Given the description of an element on the screen output the (x, y) to click on. 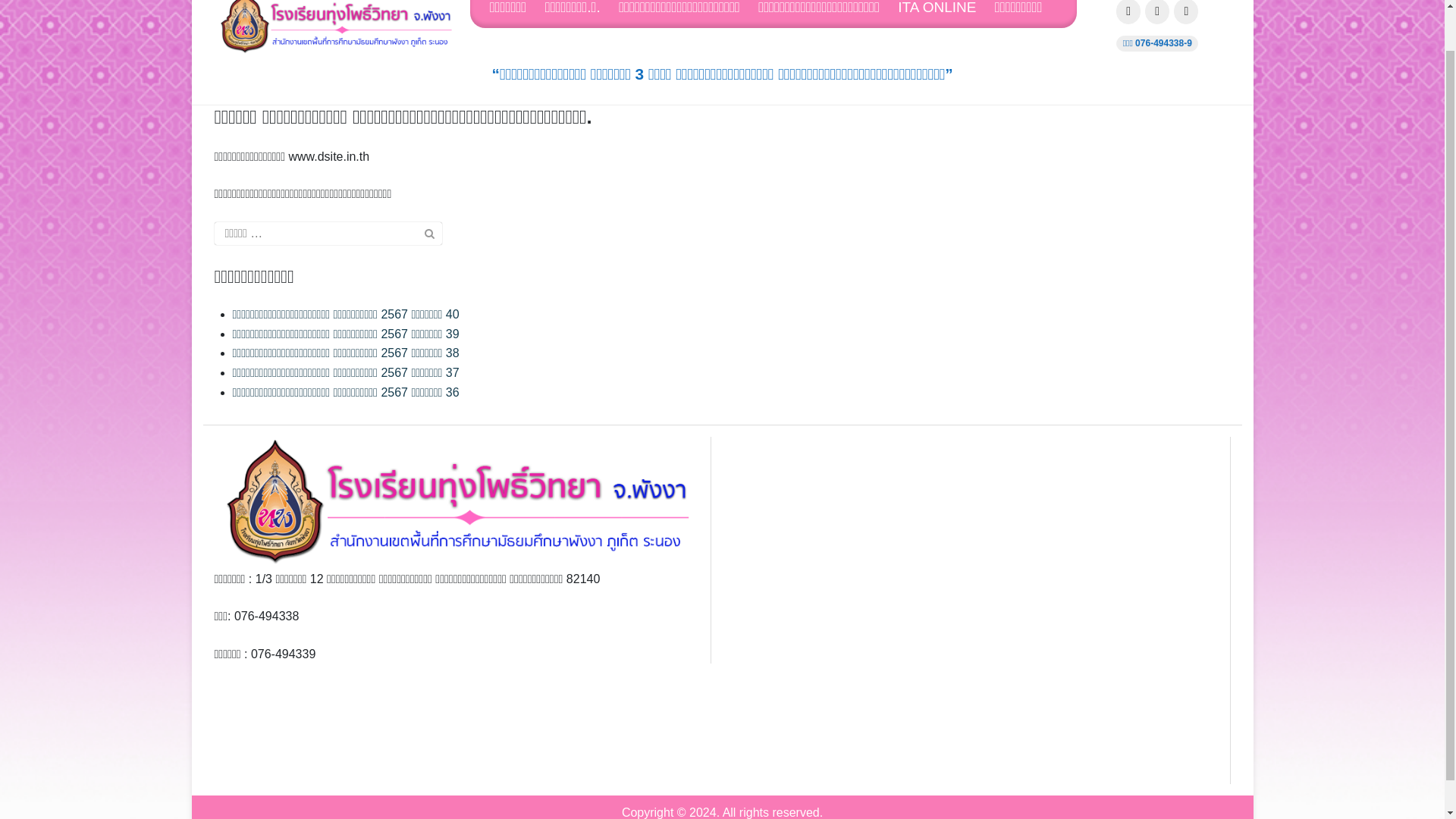
ITA ONLINE (944, 13)
